Given the description of an element on the screen output the (x, y) to click on. 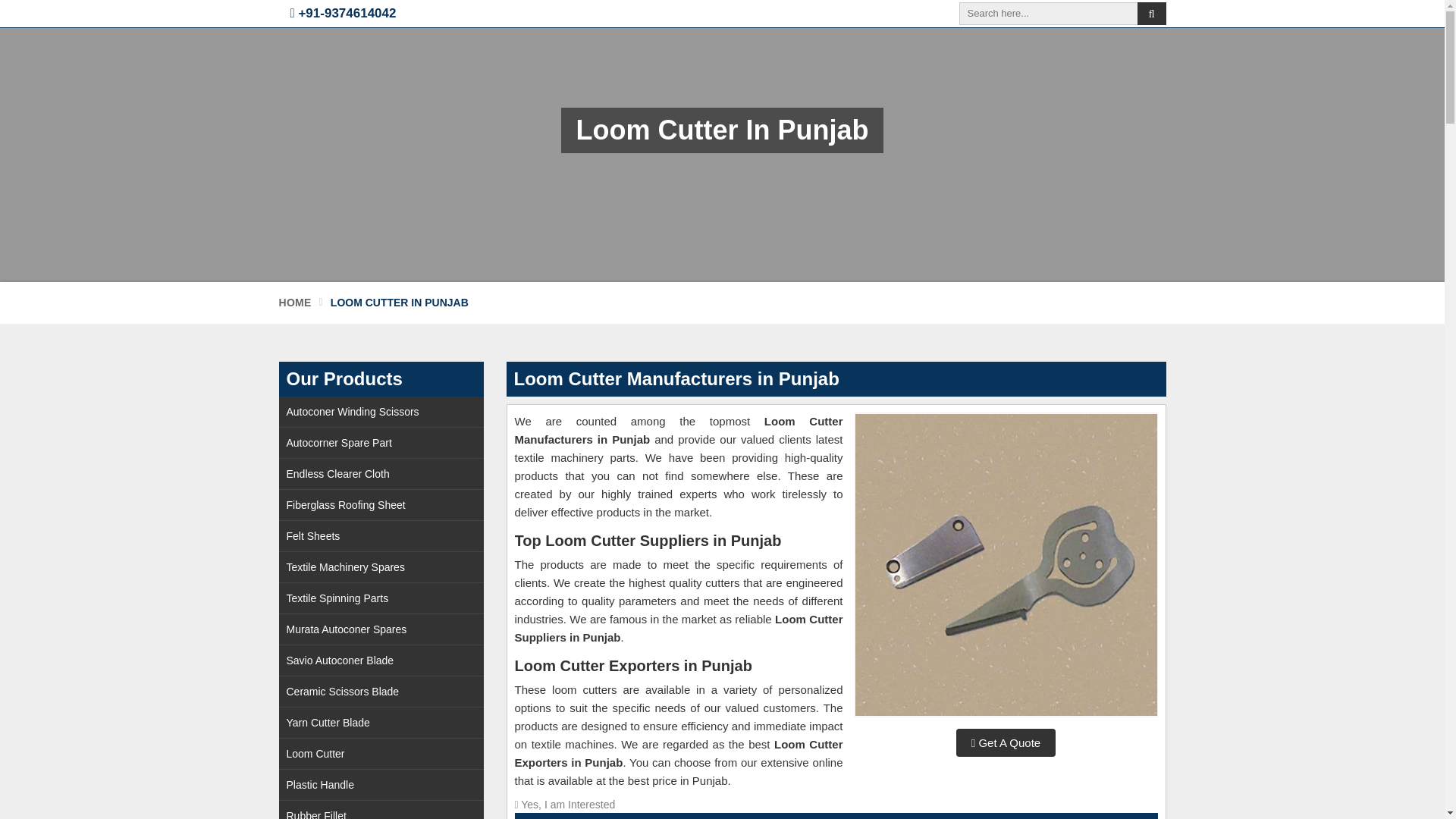
 Loom Cutter Manufacturers in Punjab (1006, 564)
Get A Quote (1005, 742)
Get A Quote (1005, 742)
Yes, I am Interested (835, 805)
Get A Quote (835, 805)
 Loom Cutter Manufacturers in Punjab (1005, 564)
Home (295, 302)
HOME (295, 302)
